Given the description of an element on the screen output the (x, y) to click on. 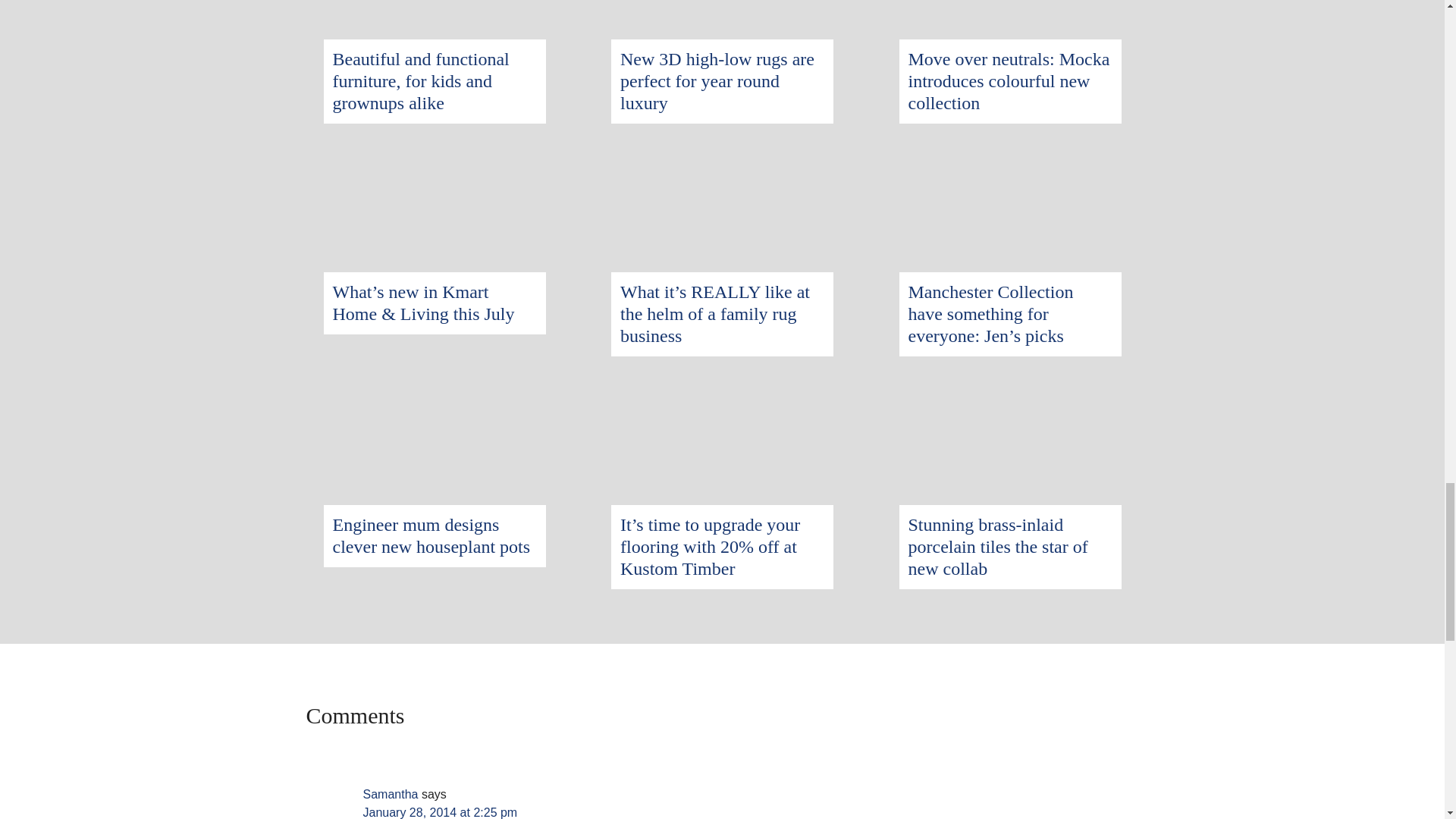
New 3D high-low rugs are perfect for year round luxury (716, 81)
